Given the description of an element on the screen output the (x, y) to click on. 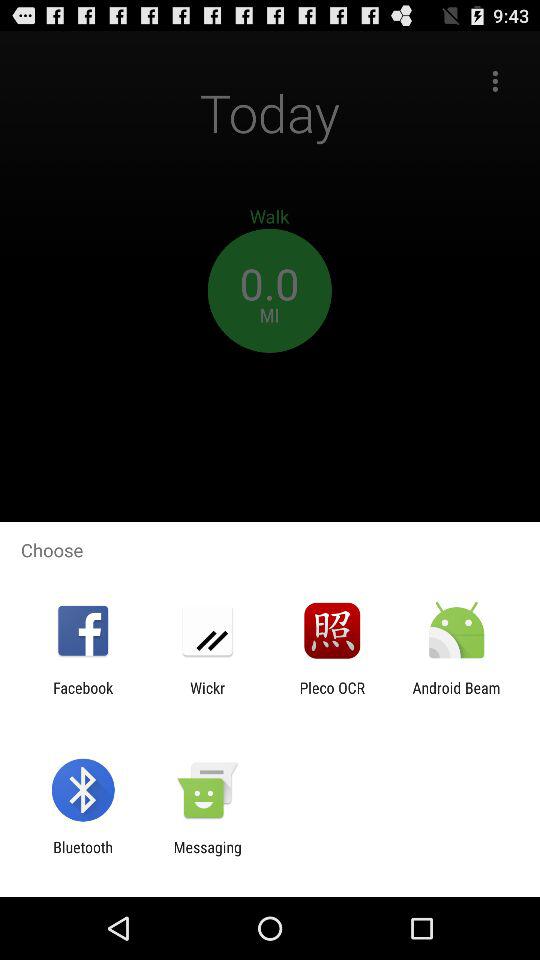
click bluetooth app (82, 856)
